Given the description of an element on the screen output the (x, y) to click on. 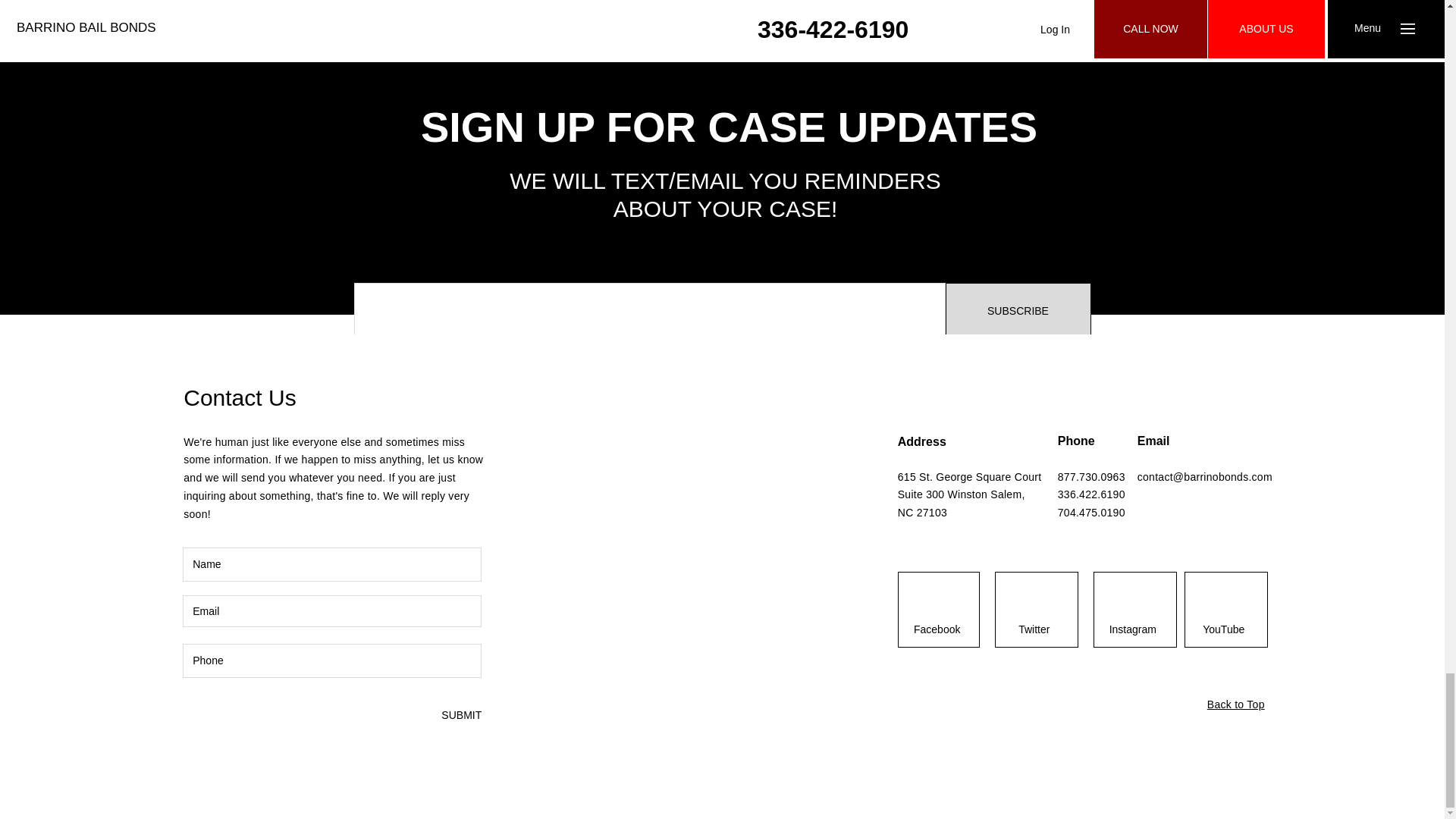
SUBMIT (460, 715)
SUBSCRIBE (1017, 310)
Facebook (936, 630)
Twitter (1034, 630)
